Given the description of an element on the screen output the (x, y) to click on. 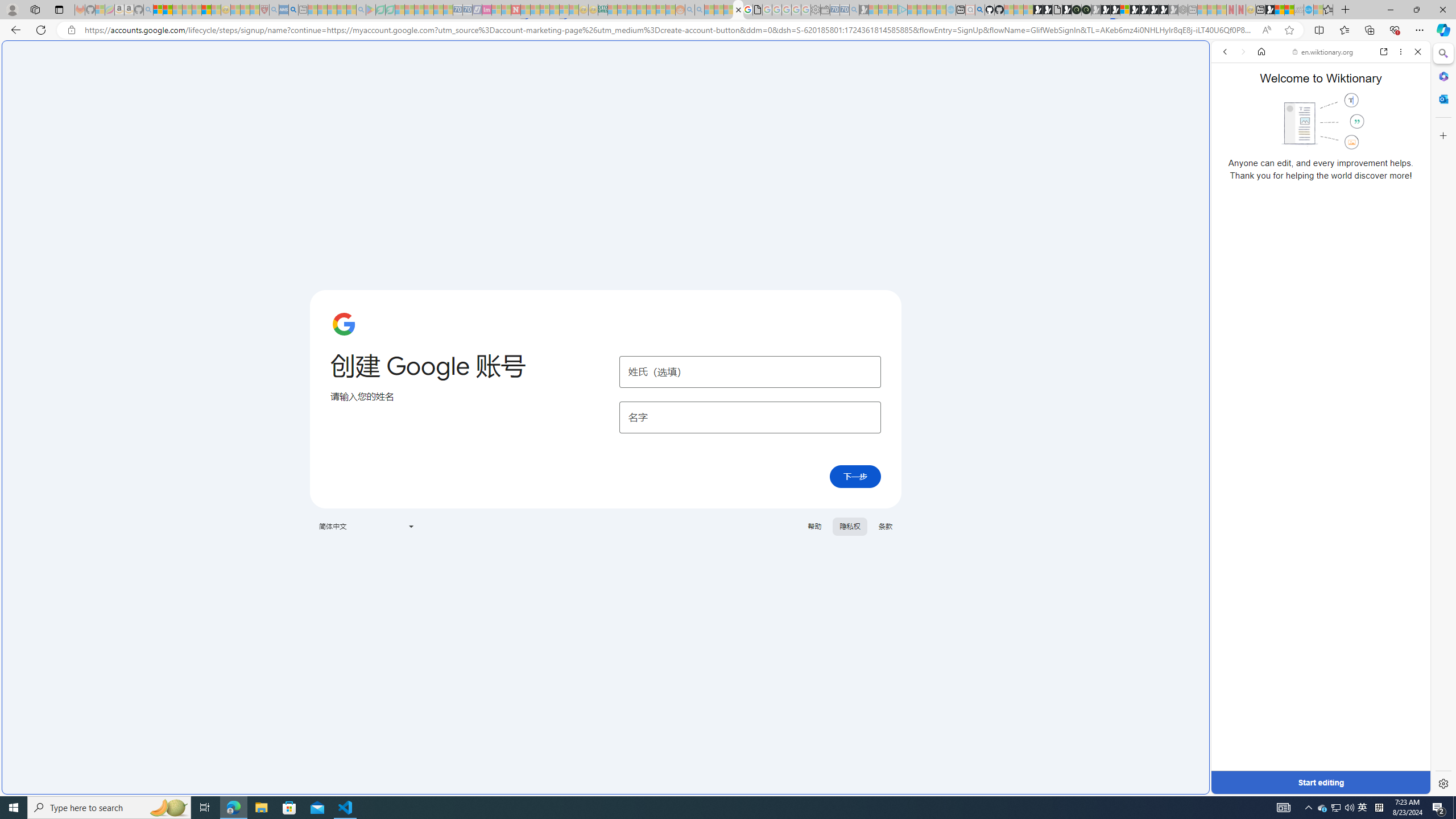
utah sues federal government - Search (292, 9)
